Given the description of an element on the screen output the (x, y) to click on. 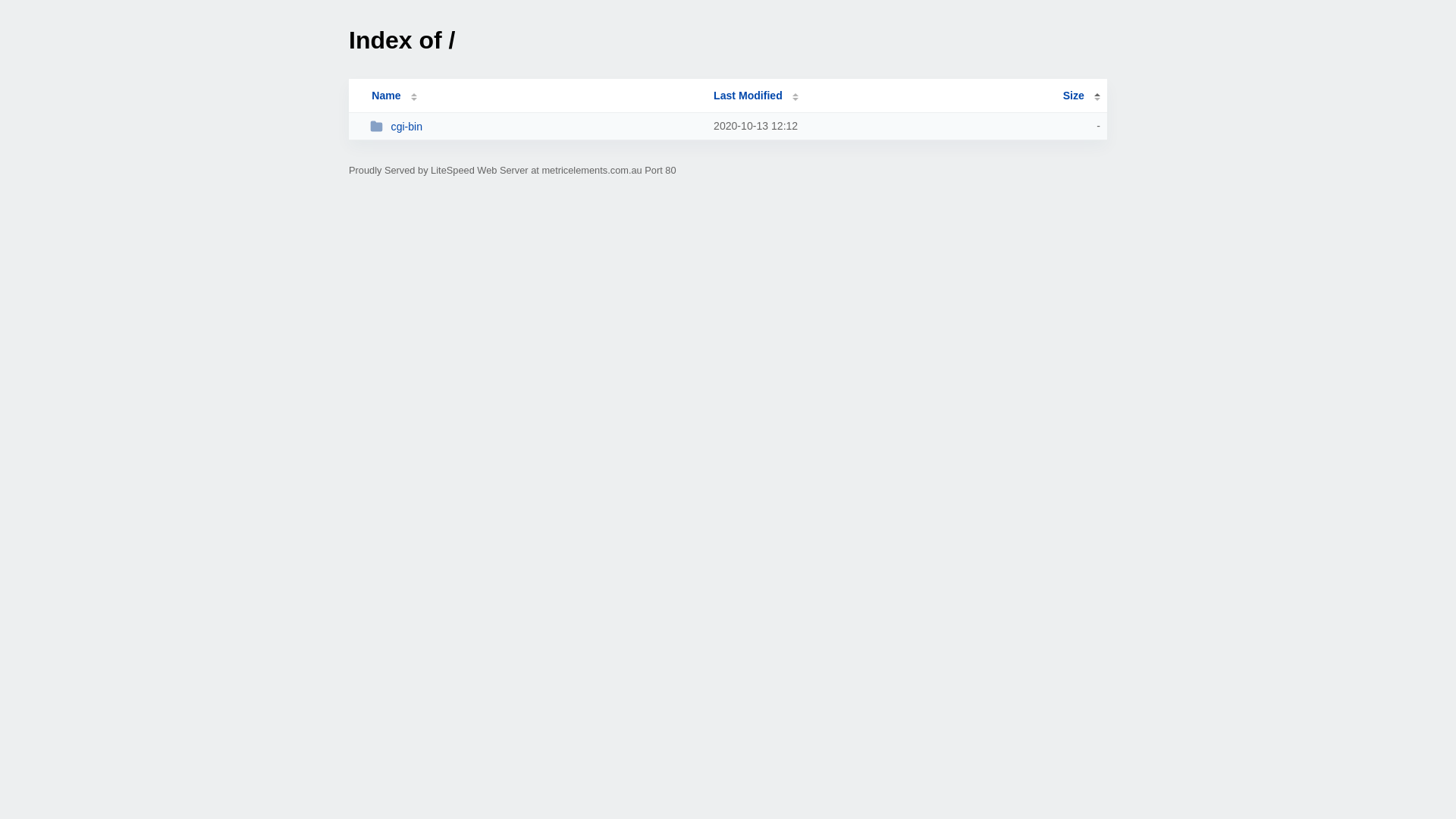
Last Modified Element type: text (755, 95)
Size Element type: text (1081, 95)
cgi-bin Element type: text (534, 125)
Name Element type: text (385, 95)
